Given the description of an element on the screen output the (x, y) to click on. 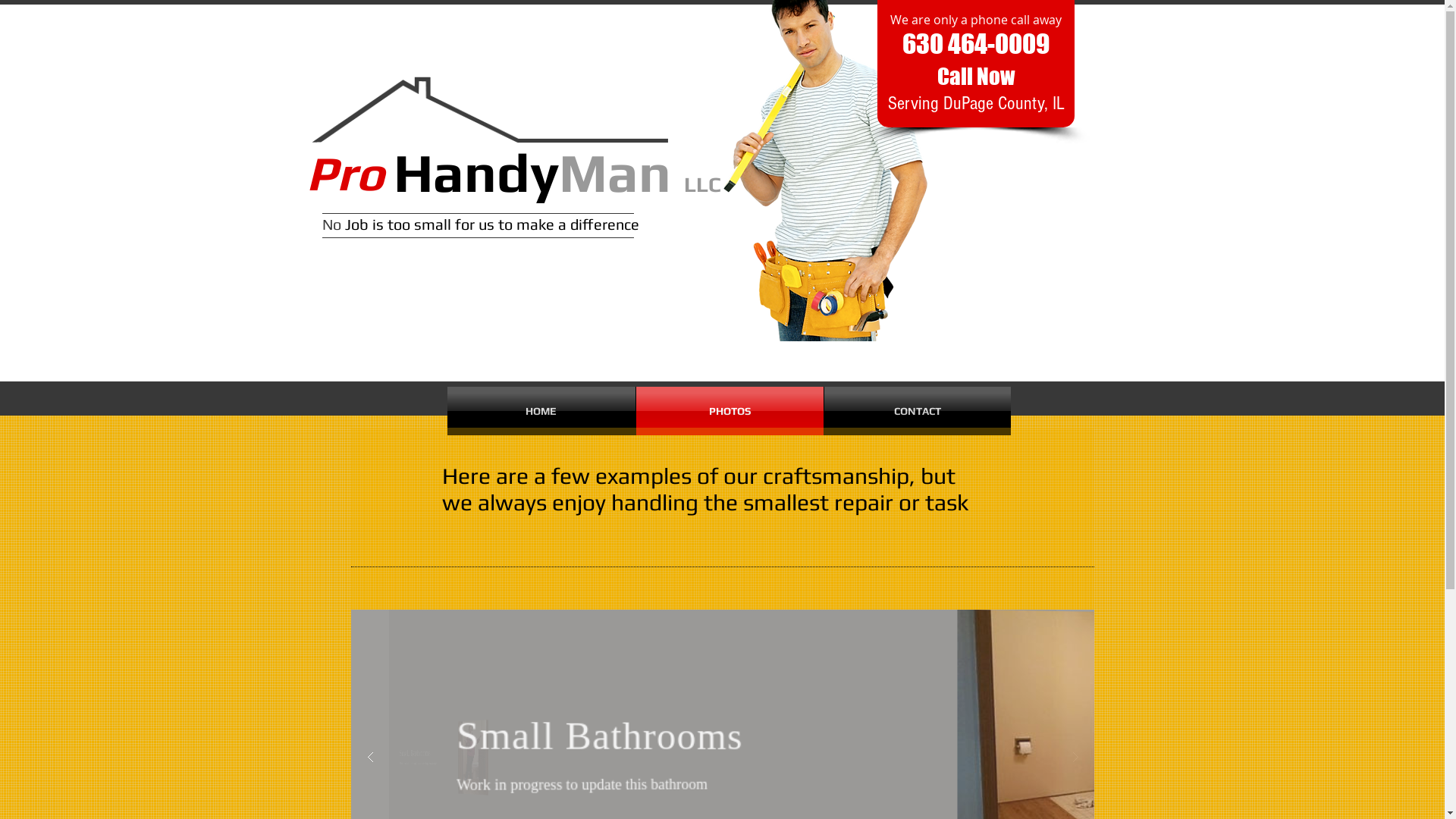
HOME Element type: text (541, 410)
PHOTOS Element type: text (728, 410)
No Element type: text (330, 223)
HandyMan LLC Element type: text (556, 172)
Pro Element type: text (345, 172)
CONTACT Element type: text (916, 410)
